Given the description of an element on the screen output the (x, y) to click on. 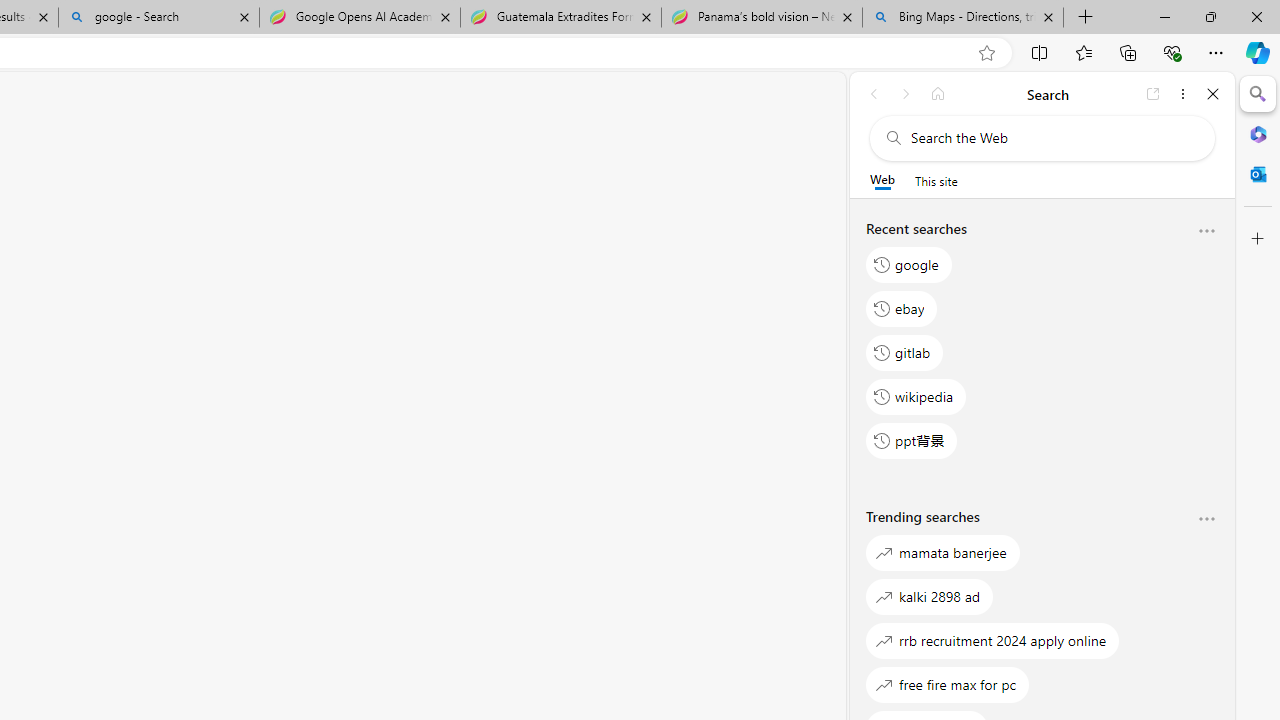
rrb recruitment 2024 apply online (993, 640)
kalki 2898 ad (930, 596)
mamata banerjee (943, 552)
Open link in new tab (1153, 93)
free fire max for pc (947, 684)
